Given the description of an element on the screen output the (x, y) to click on. 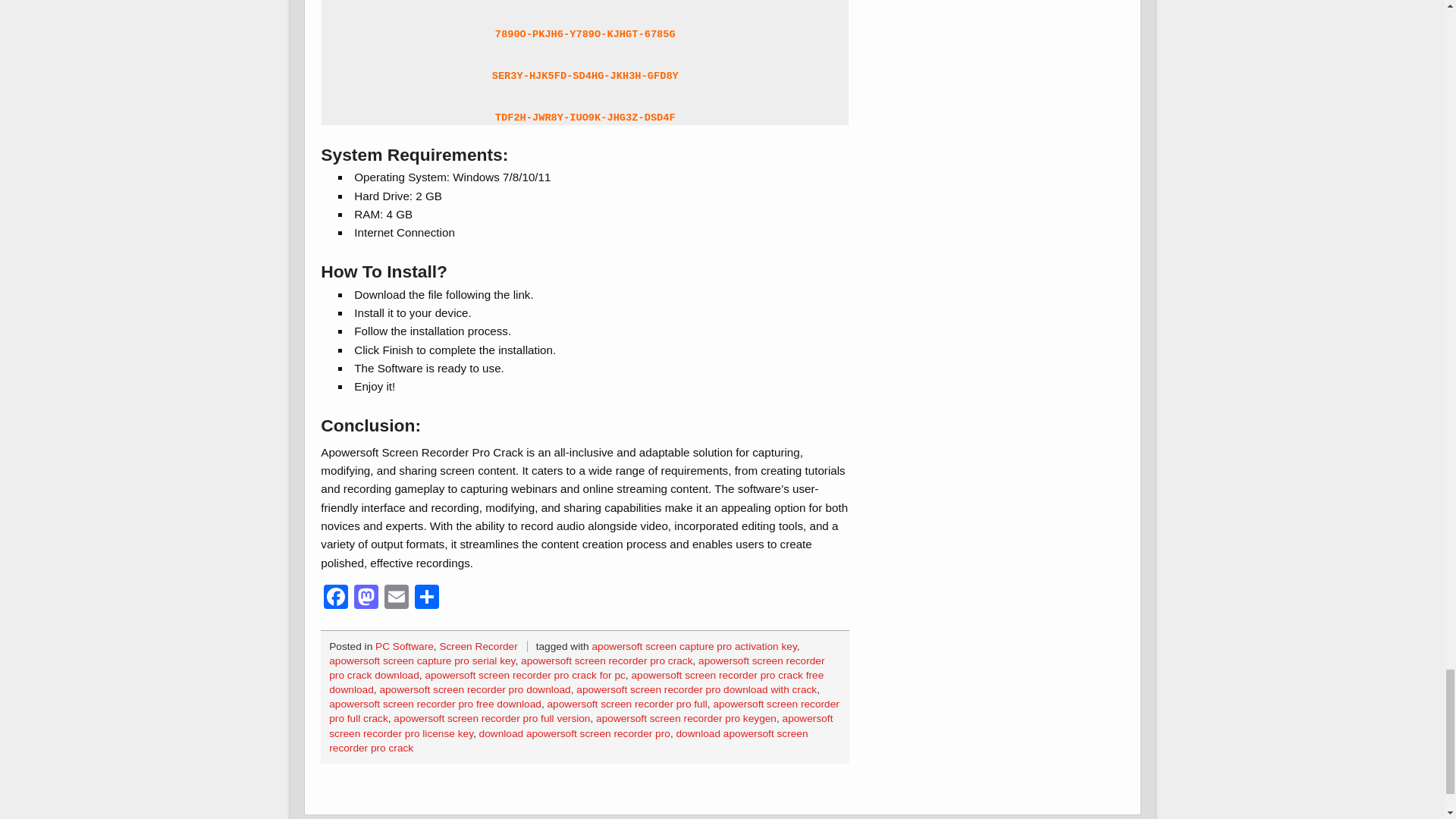
Facebook (335, 598)
Email (396, 598)
apowersoft screen recorder pro full (627, 704)
Facebook (335, 598)
apowersoft screen recorder pro crack (607, 660)
Mastodon (365, 598)
apowersoft screen recorder pro crack download (576, 667)
apowersoft screen recorder pro download with crack (696, 689)
Screen Recorder (477, 645)
apowersoft screen capture pro serial key (422, 660)
PC Software (404, 645)
apowersoft screen recorder pro full crack (584, 710)
apowersoft screen capture pro activation key (693, 645)
download apowersoft screen recorder pro (574, 733)
apowersoft screen recorder pro crack for pc (524, 674)
